Given the description of an element on the screen output the (x, y) to click on. 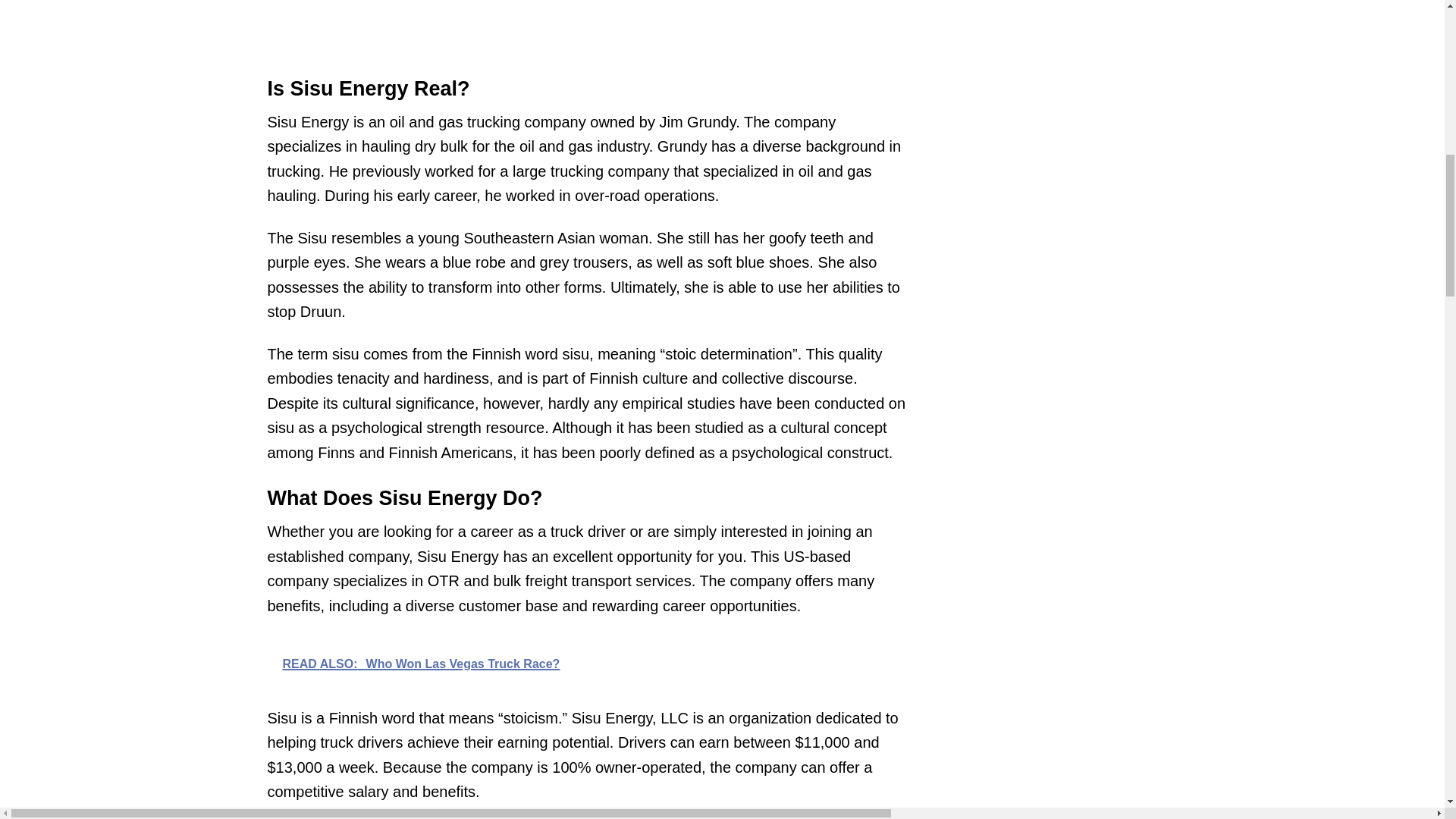
READ ALSO:  Who Won Las Vegas Truck Race? (588, 663)
